Given the description of an element on the screen output the (x, y) to click on. 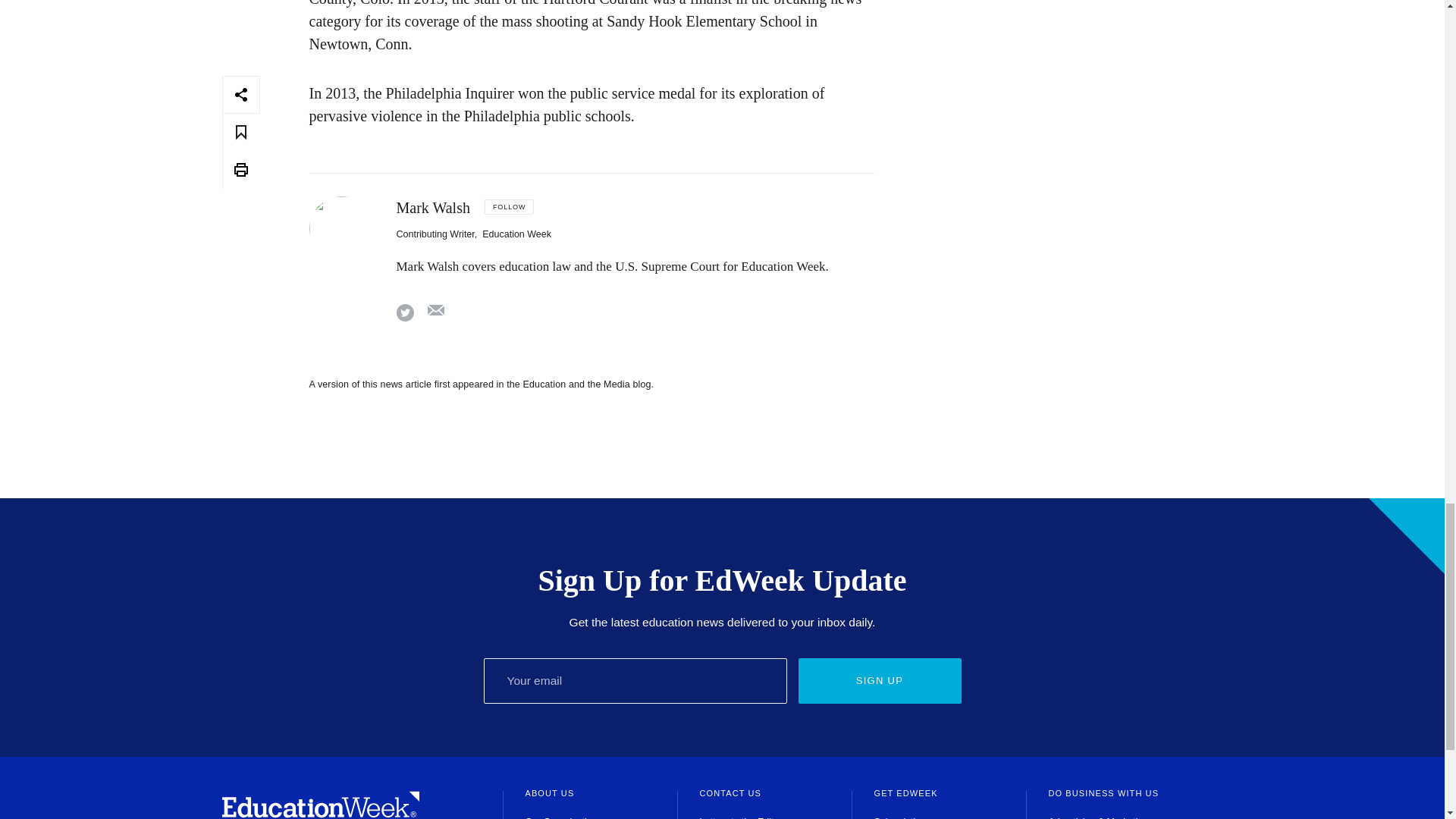
Homepage (320, 813)
